Given the description of an element on the screen output the (x, y) to click on. 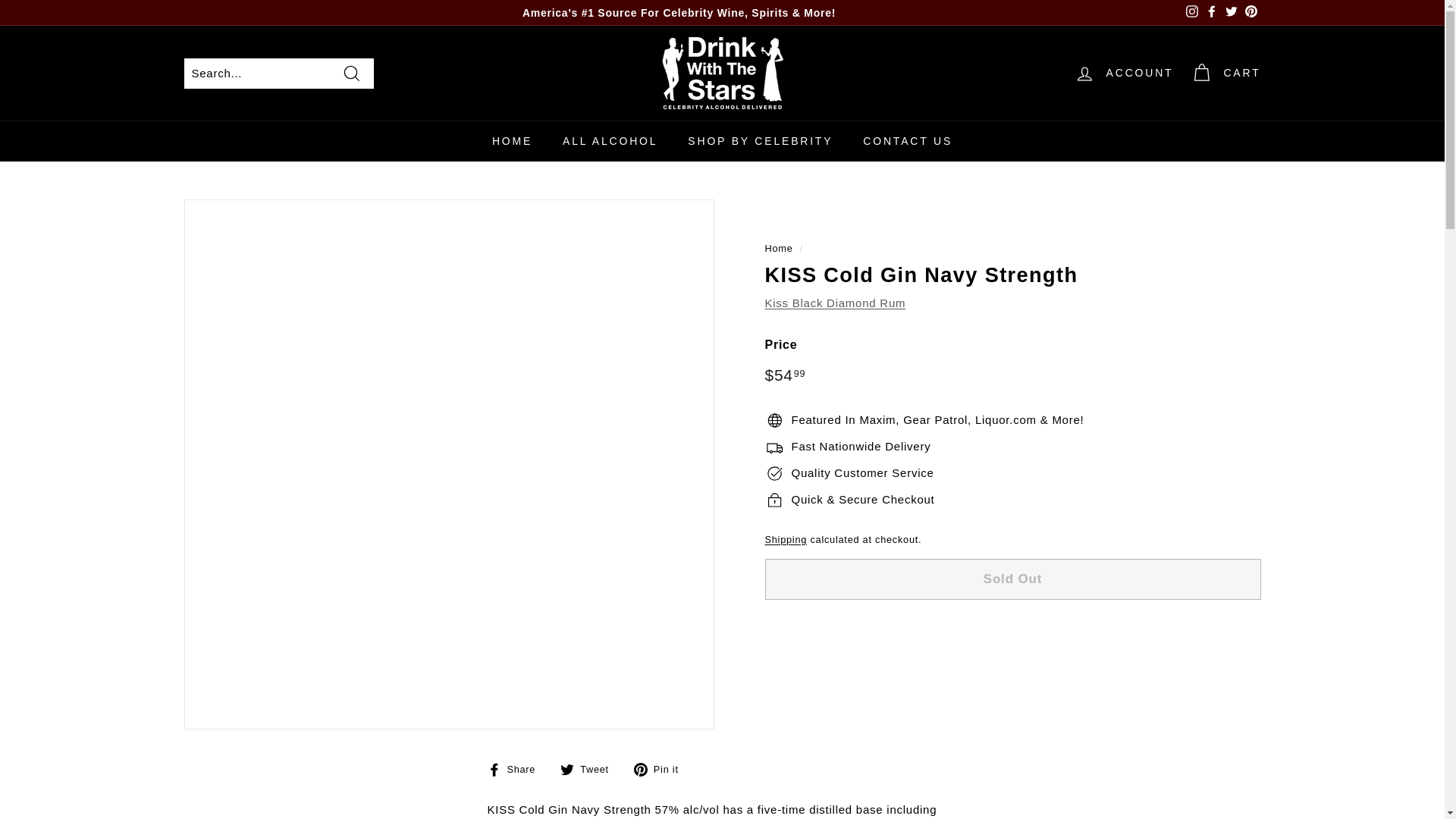
Share on Facebook (516, 769)
Instagram (1190, 12)
Tweet on Twitter (590, 769)
Pin on Pinterest (661, 769)
Drink With The Stars on Twitter (1230, 12)
Drink With The Stars on Facebook (1211, 12)
Twitter (1230, 12)
CONTACT US (907, 140)
ACCOUNT (1123, 72)
SHOP BY CELEBRITY (759, 140)
HOME (512, 140)
Back to the frontpage (778, 247)
Pinterest (1250, 12)
Drink With The Stars on Pinterest (1250, 12)
